Given the description of an element on the screen output the (x, y) to click on. 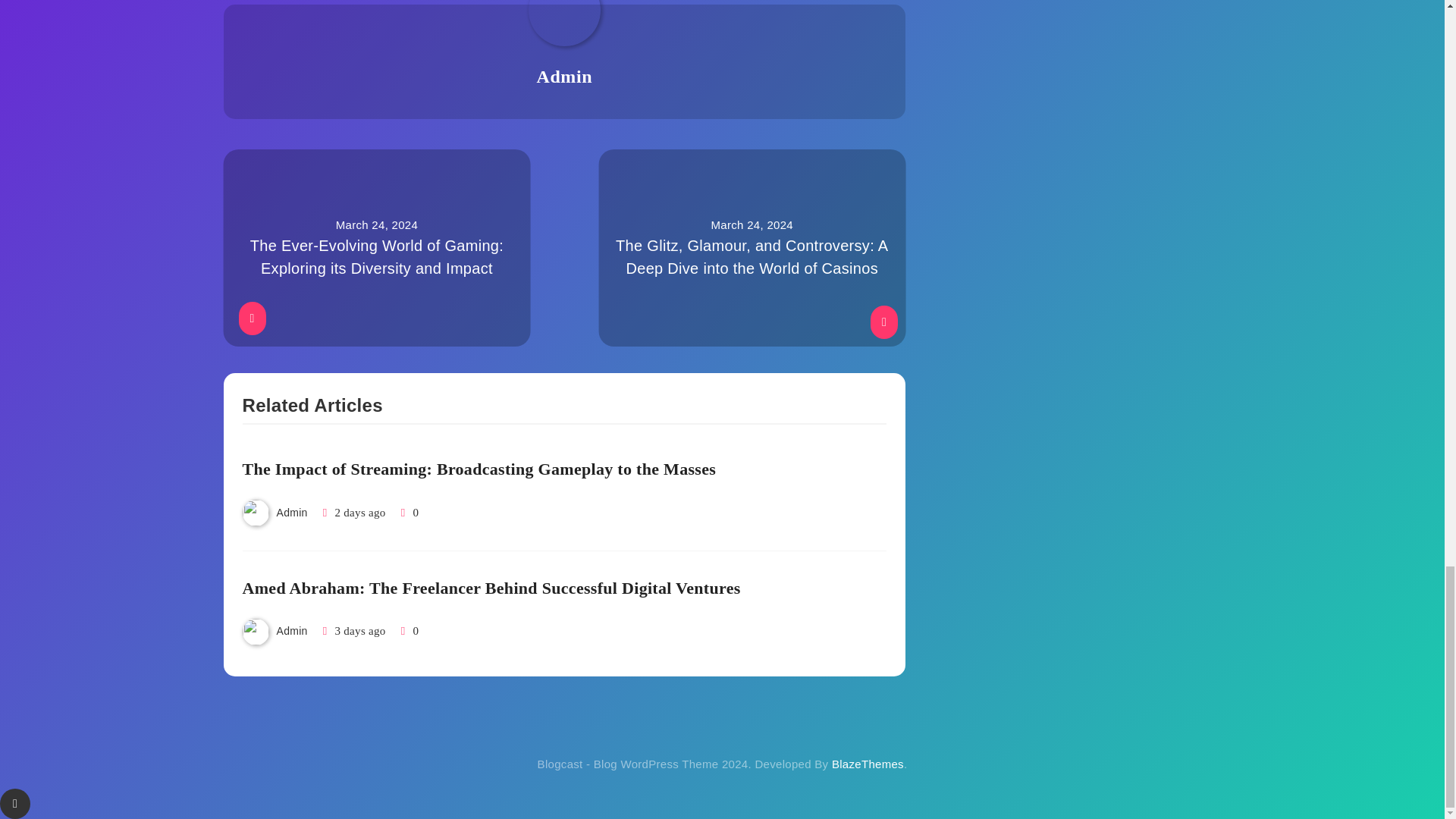
0 (408, 512)
Admin (291, 630)
3 days ago (359, 630)
0 (408, 630)
Admin (291, 512)
2 days ago (359, 512)
The Impact of Streaming: Broadcasting Gameplay to the Masses (479, 469)
